Given the description of an element on the screen output the (x, y) to click on. 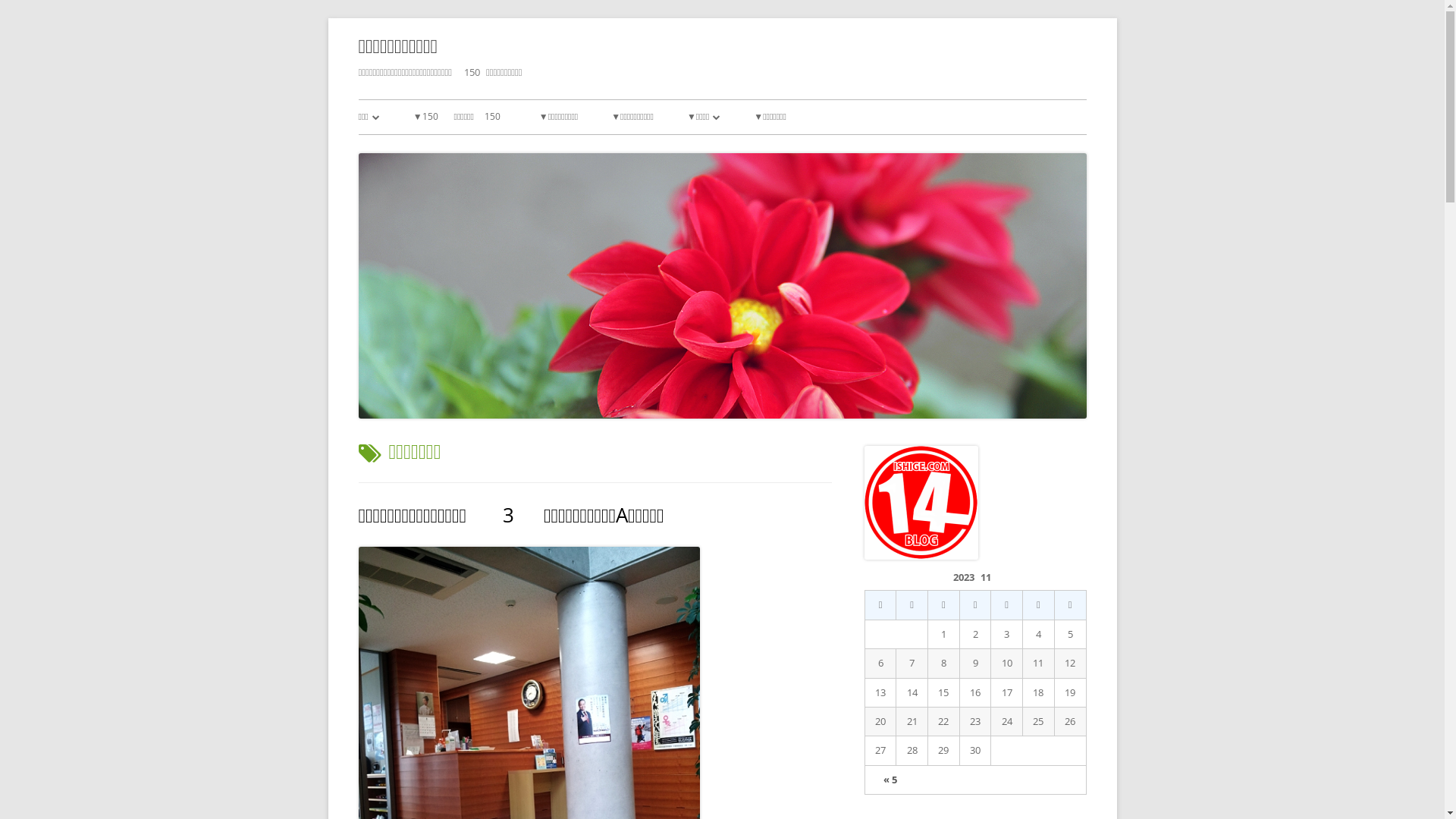
14ge.com Blog icon Element type: hover (921, 502)
